Given the description of an element on the screen output the (x, y) to click on. 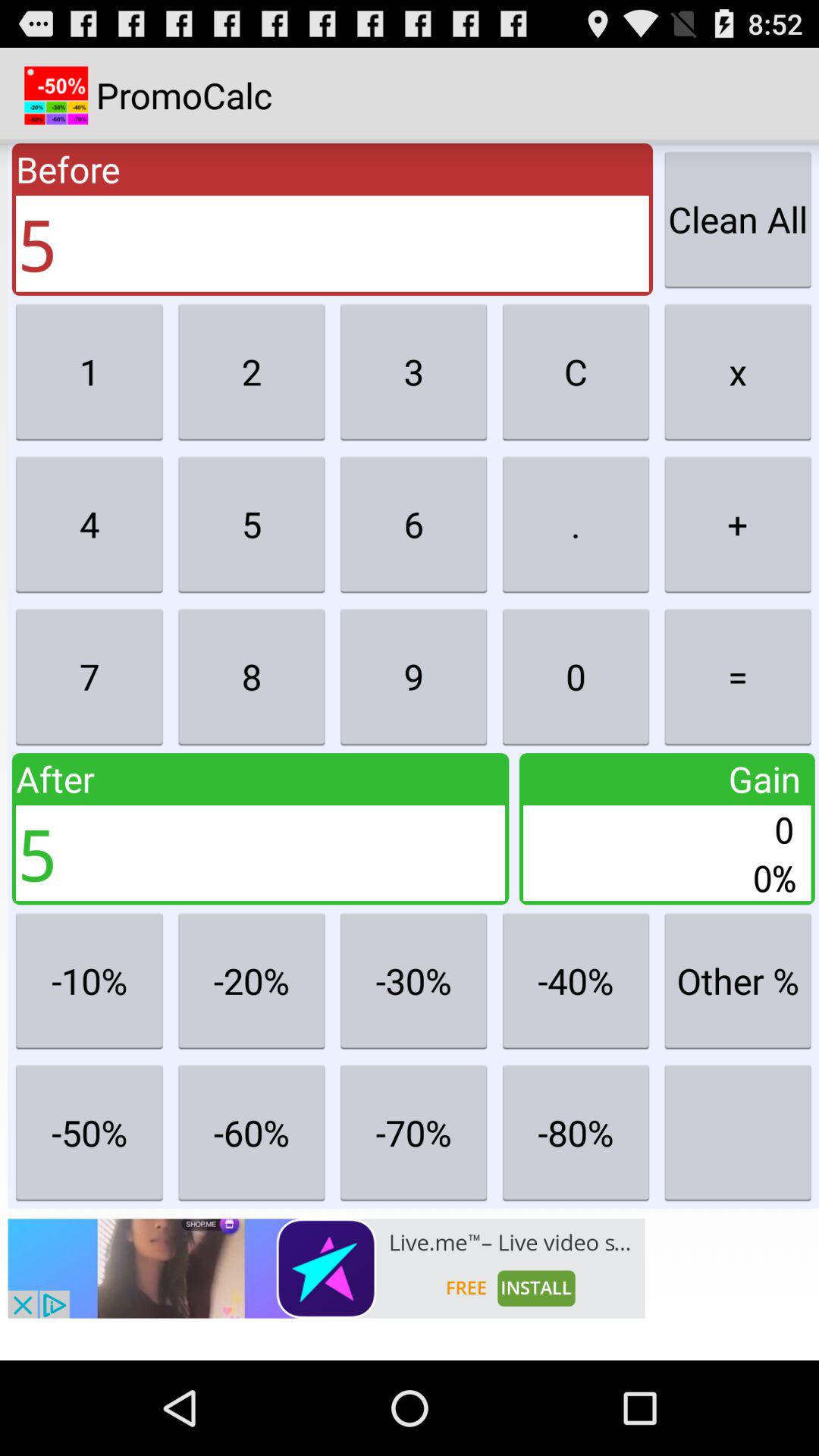
advertisements (325, 1268)
